Given the description of an element on the screen output the (x, y) to click on. 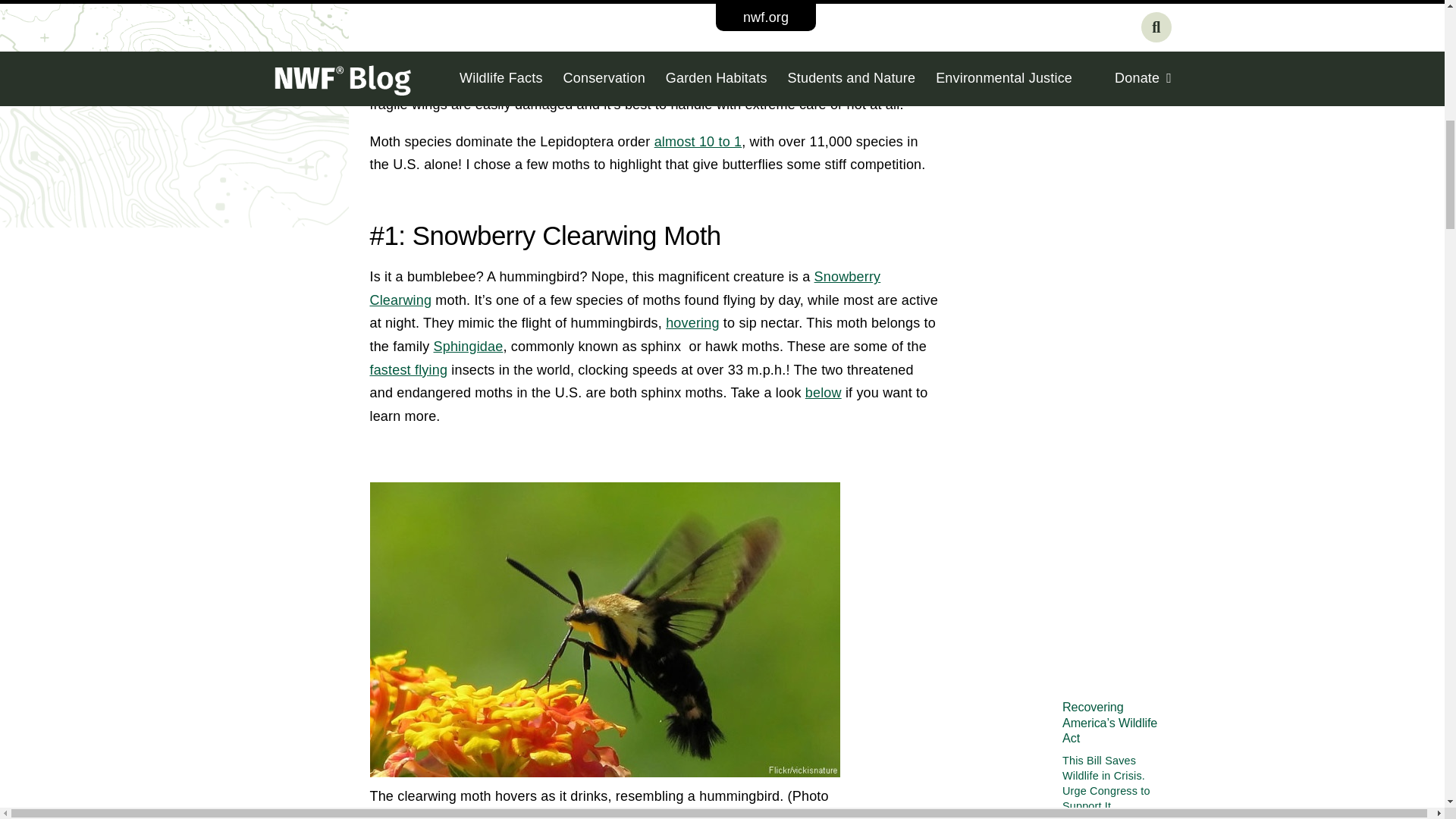
Sphingidae (468, 346)
below (823, 392)
Snowberry Clearwing (624, 288)
hovering (692, 322)
tiny scales (601, 34)
almost 10 to 1 (697, 141)
fastest flying (408, 369)
